Given the description of an element on the screen output the (x, y) to click on. 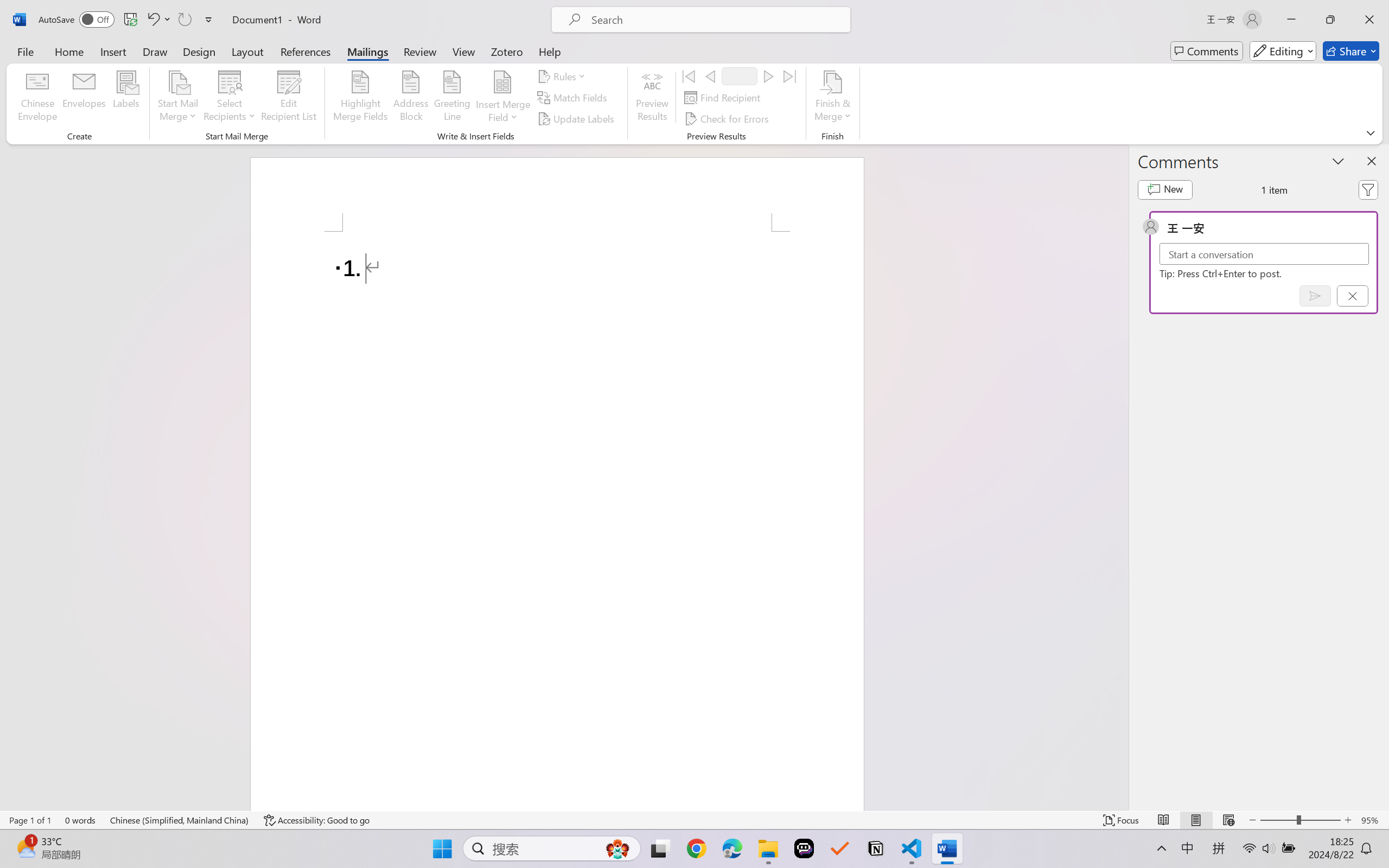
Chinese Envelope... (37, 97)
Insert Merge Field (502, 97)
Insert Merge Field (502, 81)
Address Block... (410, 97)
Rules (563, 75)
